Given the description of an element on the screen output the (x, y) to click on. 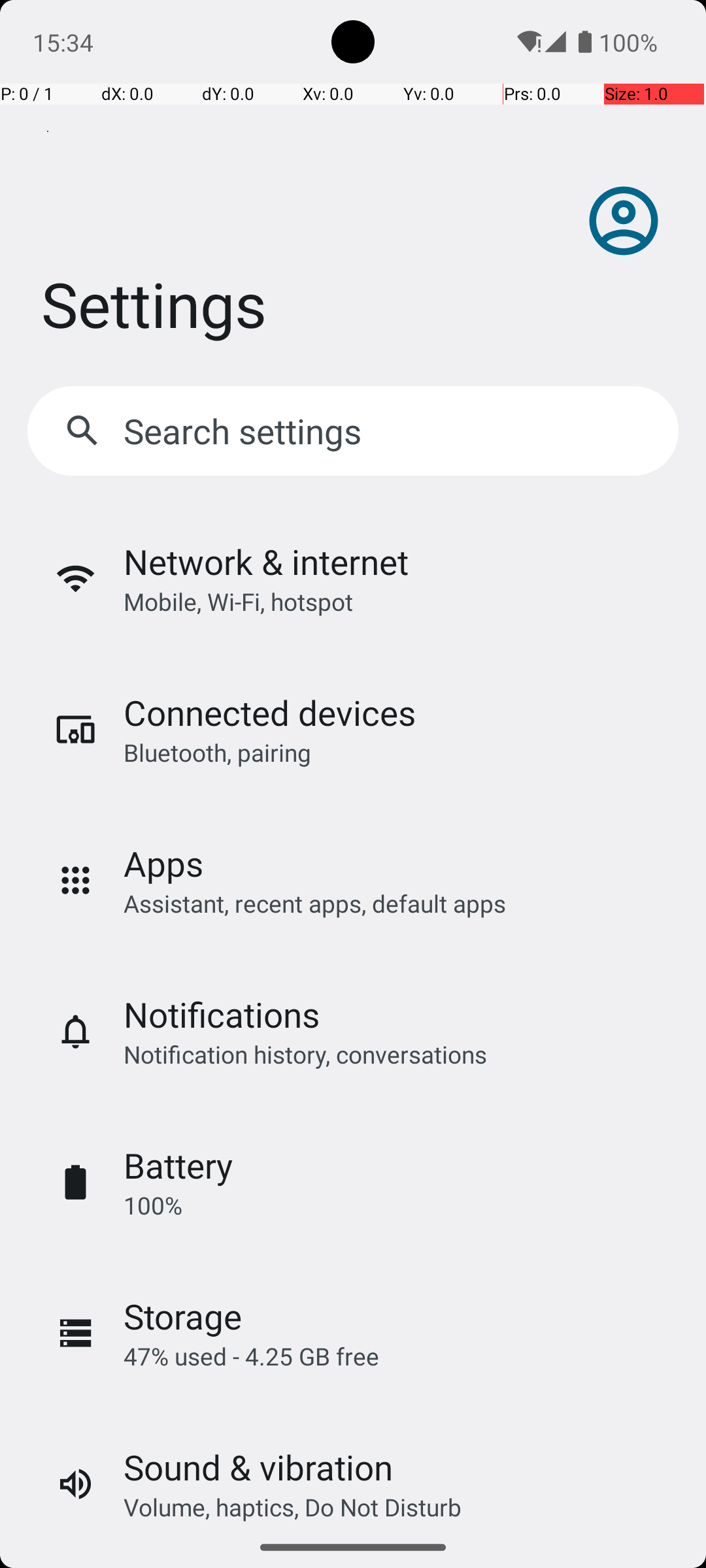
47% used - 4.25 GB free Element type: android.widget.TextView (251, 1355)
